Given the description of an element on the screen output the (x, y) to click on. 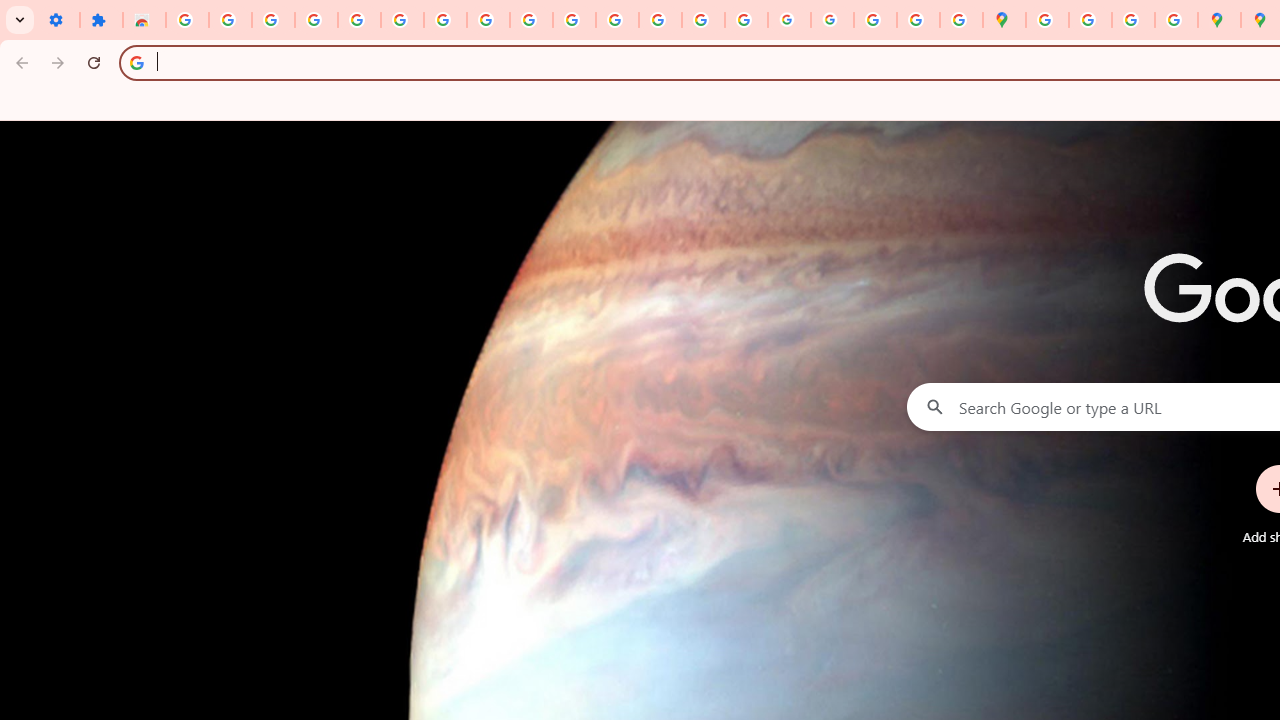
Sign in - Google Accounts (402, 20)
Extensions (100, 20)
